Given the description of an element on the screen output the (x, y) to click on. 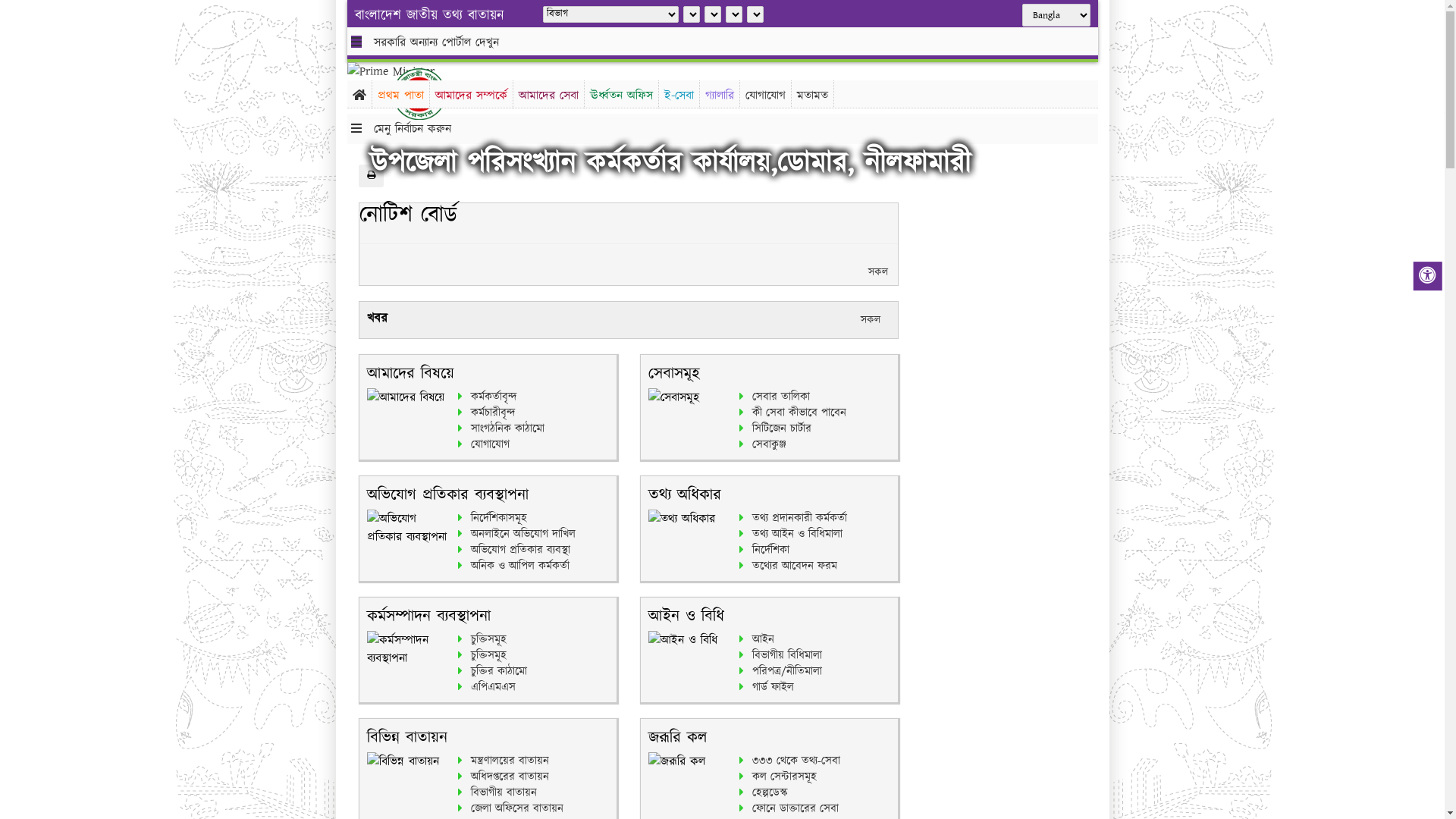

                
             Element type: hover (430, 93)
